Given the description of an element on the screen output the (x, y) to click on. 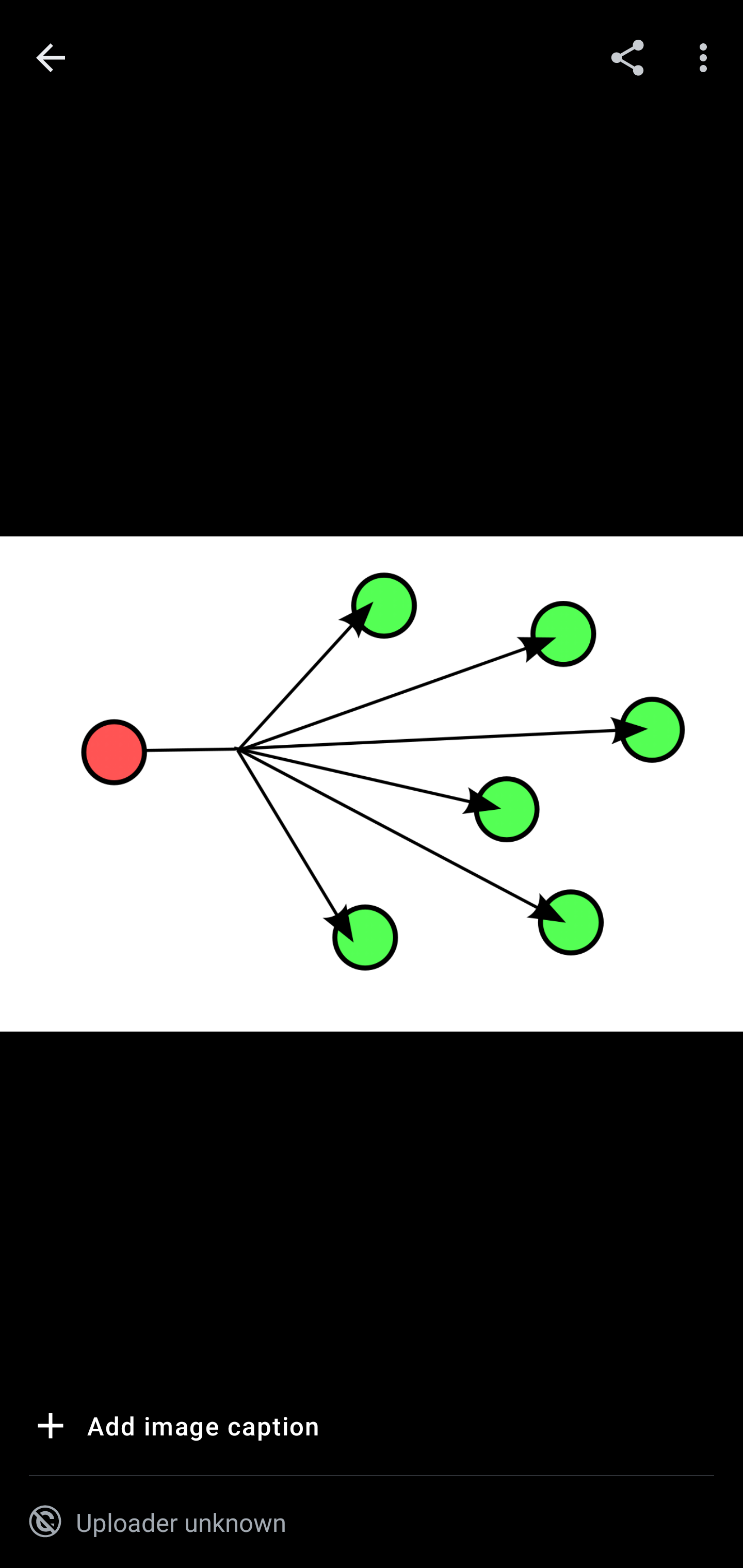
Navigate up (50, 57)
Share (626, 57)
More options (706, 57)
Add image caption (174, 1428)
Public domain (44, 1521)
